Given the description of an element on the screen output the (x, y) to click on. 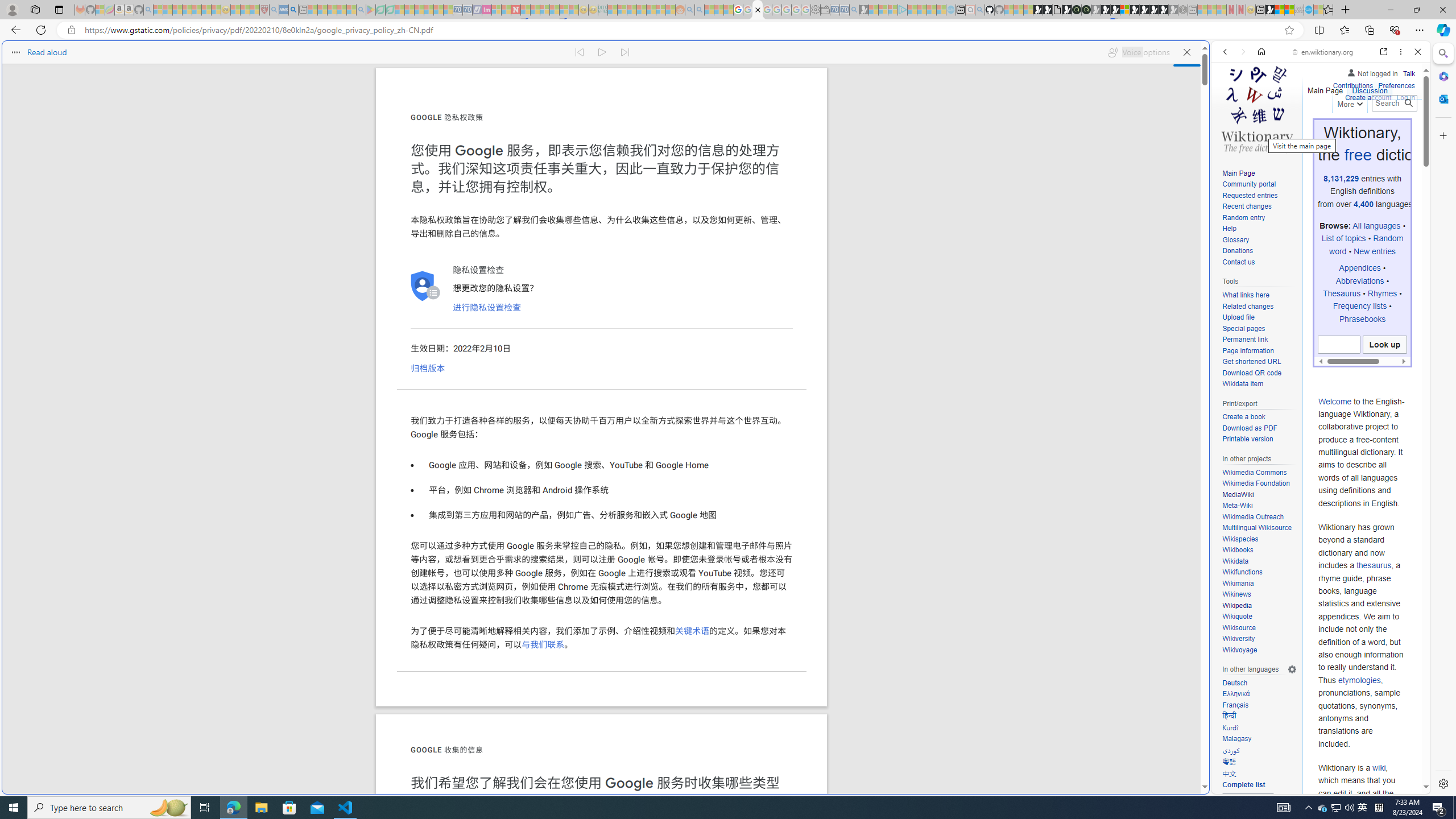
Phrasebooks (1362, 318)
Wikivoyage (1239, 649)
Thesaurus (1342, 293)
Log in (1405, 96)
Multilingual Wikisource (1259, 527)
